Given the description of an element on the screen output the (x, y) to click on. 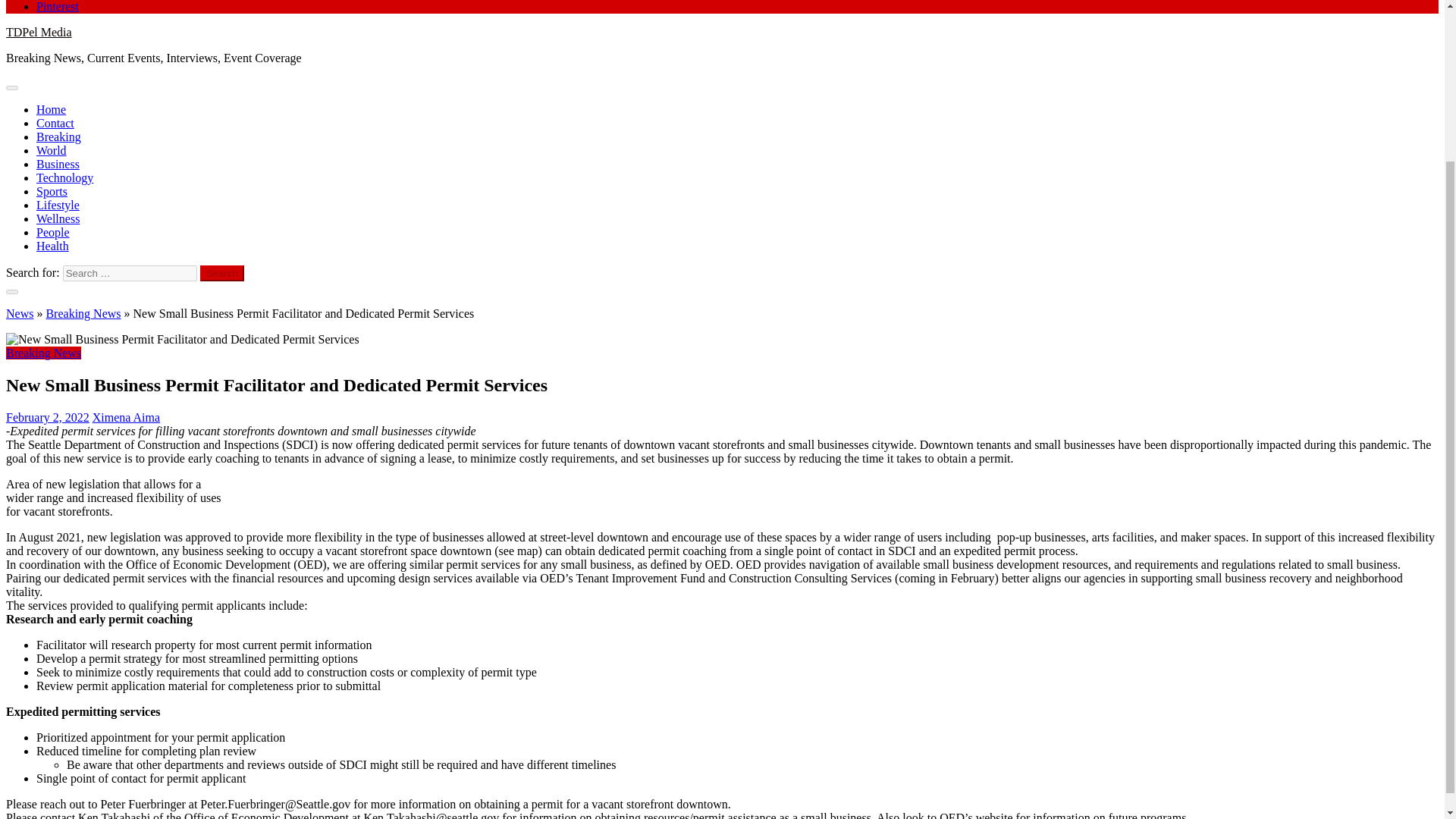
World (51, 150)
Health (52, 245)
Search (222, 273)
Breaking News (82, 313)
February 2, 2022 (46, 417)
Lifestyle (58, 205)
Business (58, 164)
TDPel Media (38, 31)
Wellness (58, 218)
News (19, 313)
Contact (55, 123)
Search (222, 273)
Breaking (58, 136)
Technology (64, 177)
Pinterest (57, 6)
